Given the description of an element on the screen output the (x, y) to click on. 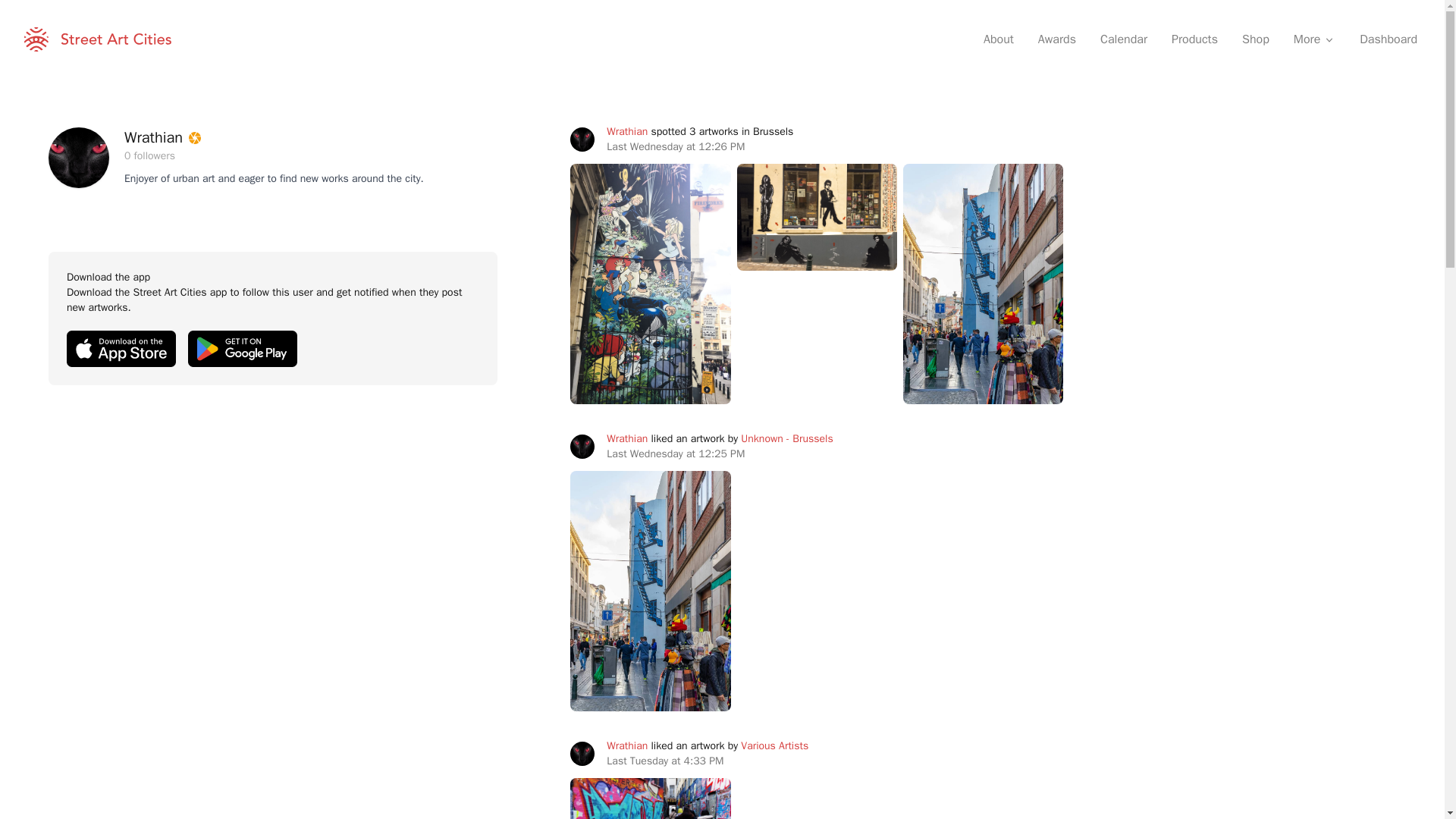
Download for iPhone or iPad (121, 348)
Shop (1255, 39)
Products (1194, 39)
Street Art Cities (97, 39)
More (1314, 39)
About (998, 39)
Wrathian (627, 745)
Various Artists (774, 745)
Wrathian (627, 438)
Dashboard (1388, 39)
Unknown - Brussels (786, 438)
Wrathian (627, 131)
Calendar (1122, 39)
Awards (1056, 39)
